Given the description of an element on the screen output the (x, y) to click on. 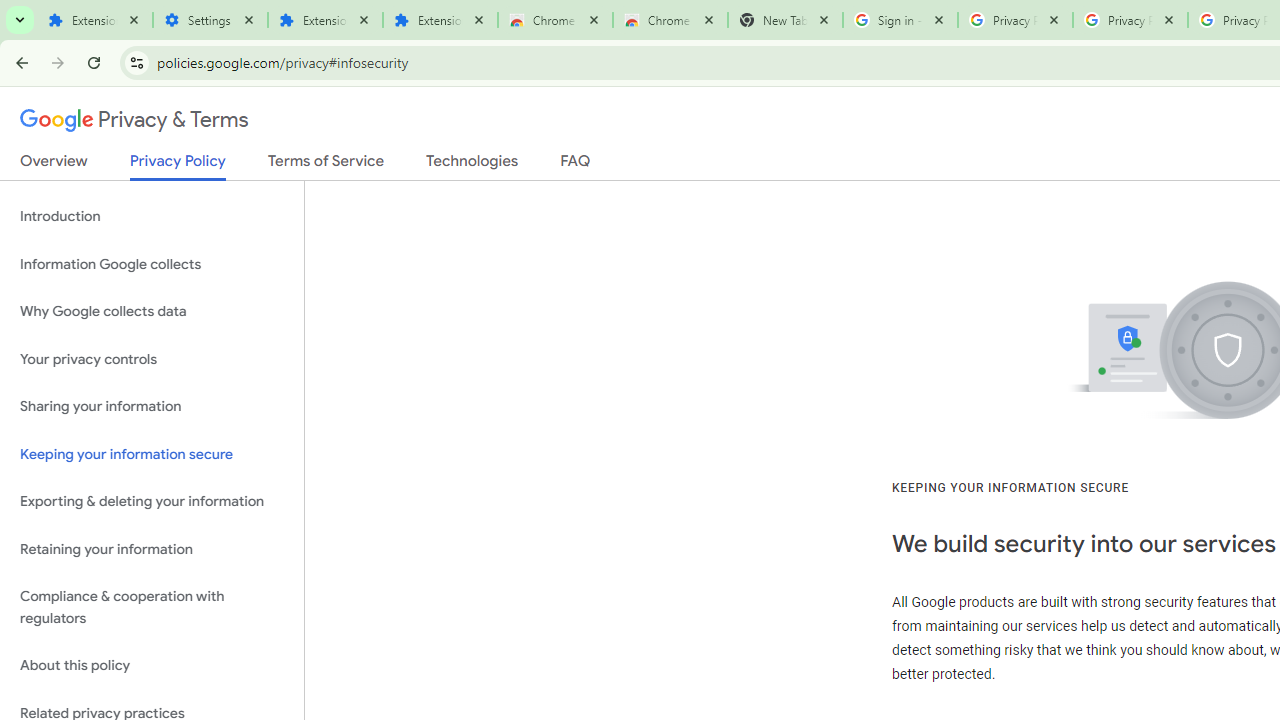
Chrome Web Store - Themes (670, 20)
Your privacy controls (152, 358)
Settings (209, 20)
Why Google collects data (152, 312)
Extensions (439, 20)
About this policy (152, 666)
